Given the description of an element on the screen output the (x, y) to click on. 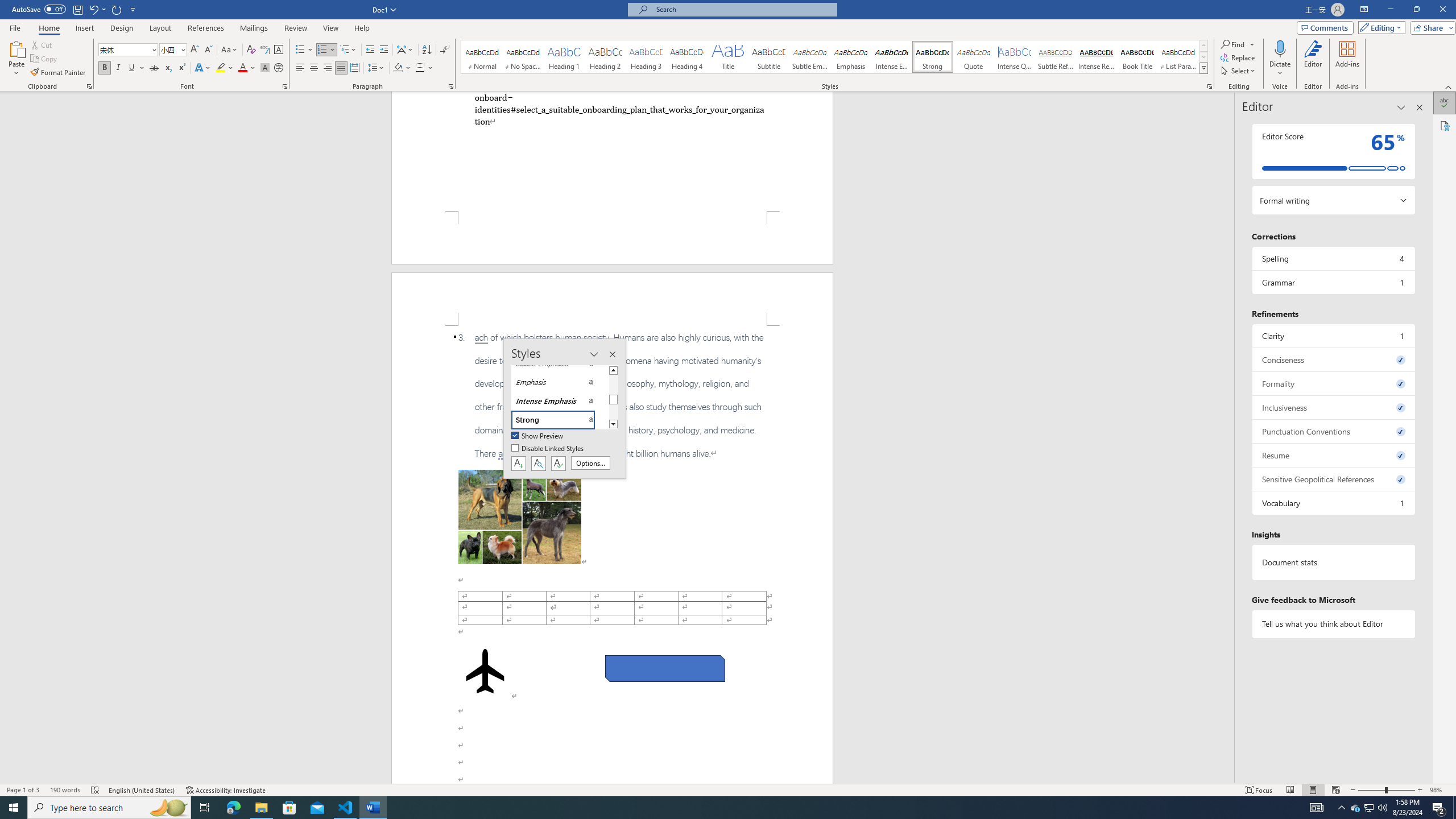
Intense Emphasis (891, 56)
Tell us what you think about Editor (1333, 624)
Font Color Automatic (241, 67)
Page 1 content (611, 151)
